Given the description of an element on the screen output the (x, y) to click on. 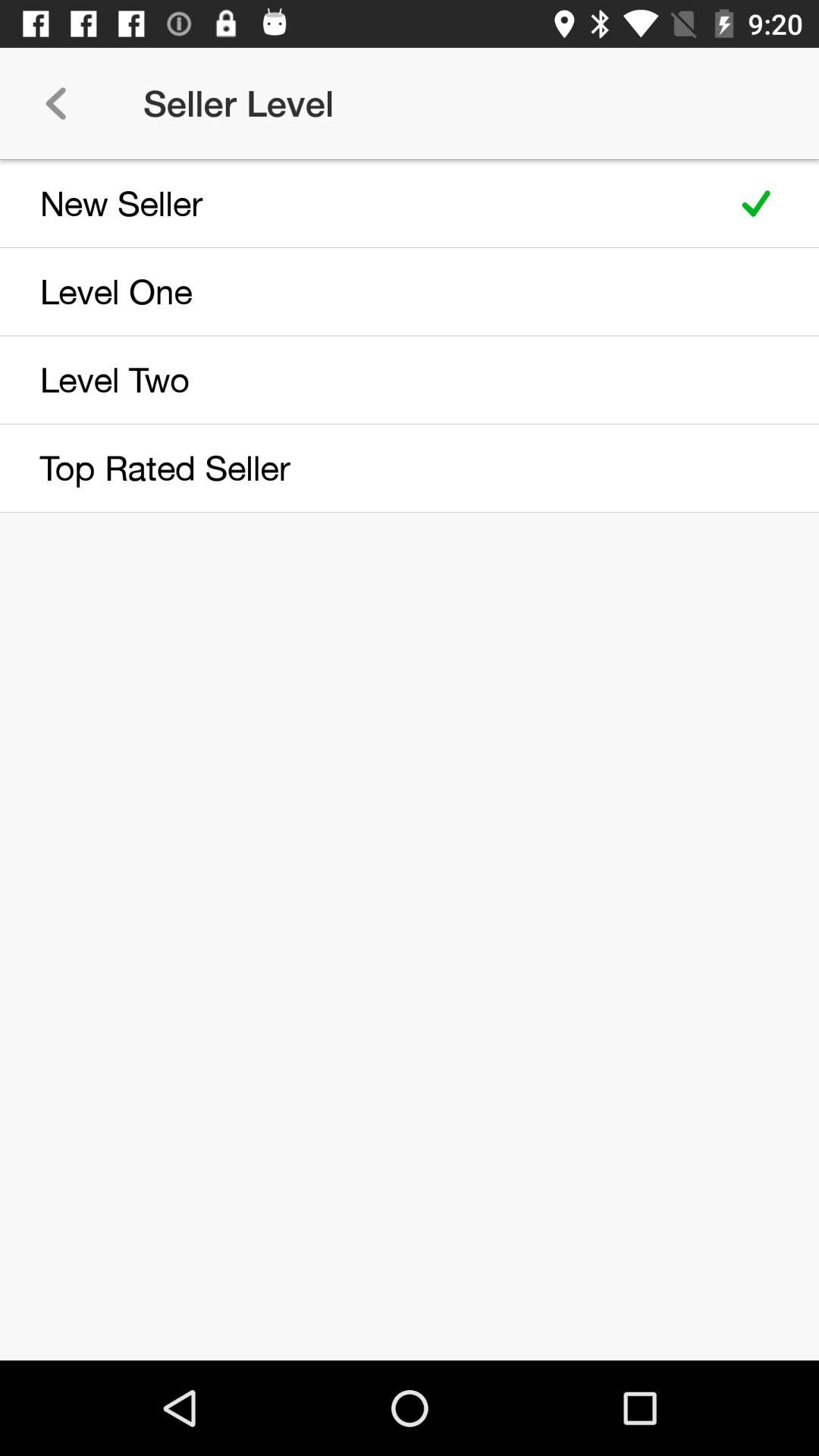
tap the level one icon (358, 291)
